Given the description of an element on the screen output the (x, y) to click on. 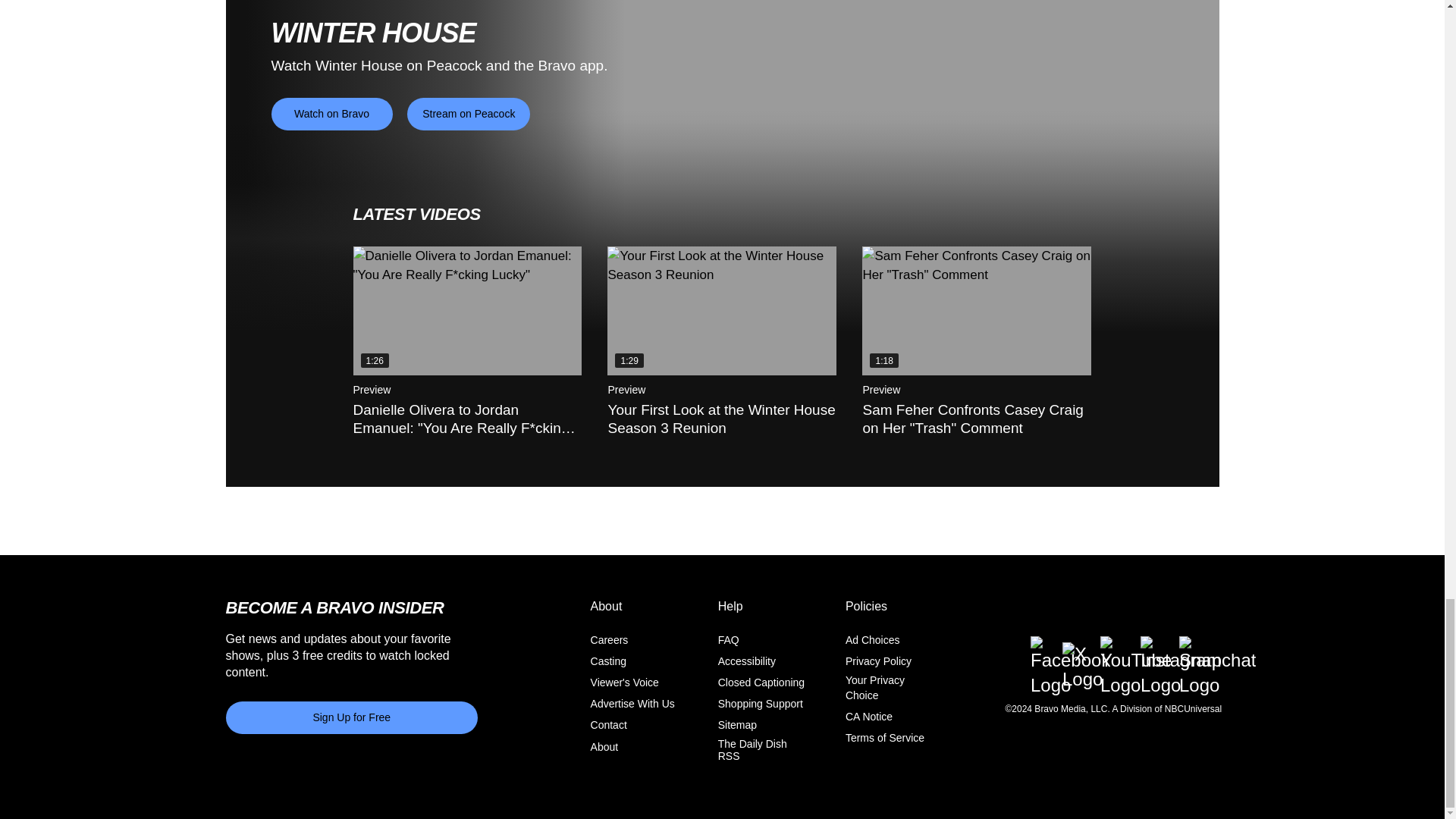
Sam Feher Confronts Casey Craig on Her "Trash" Comment (975, 310)
Your First Look at the Winter House Season 3 Reunion (721, 310)
Advertise With Us (633, 703)
